Given the description of an element on the screen output the (x, y) to click on. 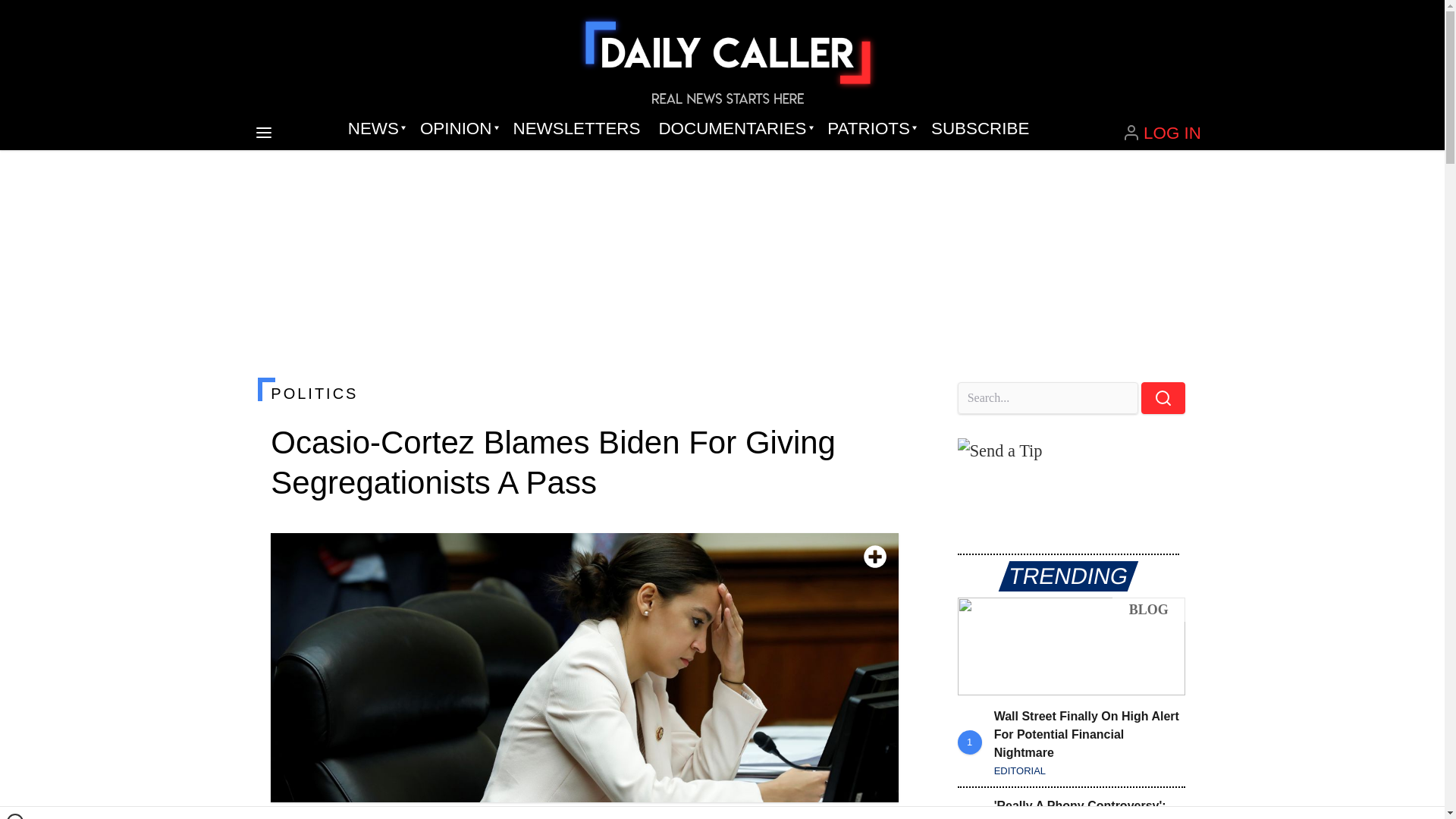
NEWS (374, 128)
OPINION (456, 128)
Toggle fullscreen (874, 556)
NEWSLETTERS (576, 128)
PATRIOTS (869, 128)
SUBSCRIBE (979, 128)
DOCUMENTARIES (733, 128)
POLITICS (584, 393)
Close window (14, 816)
